Given the description of an element on the screen output the (x, y) to click on. 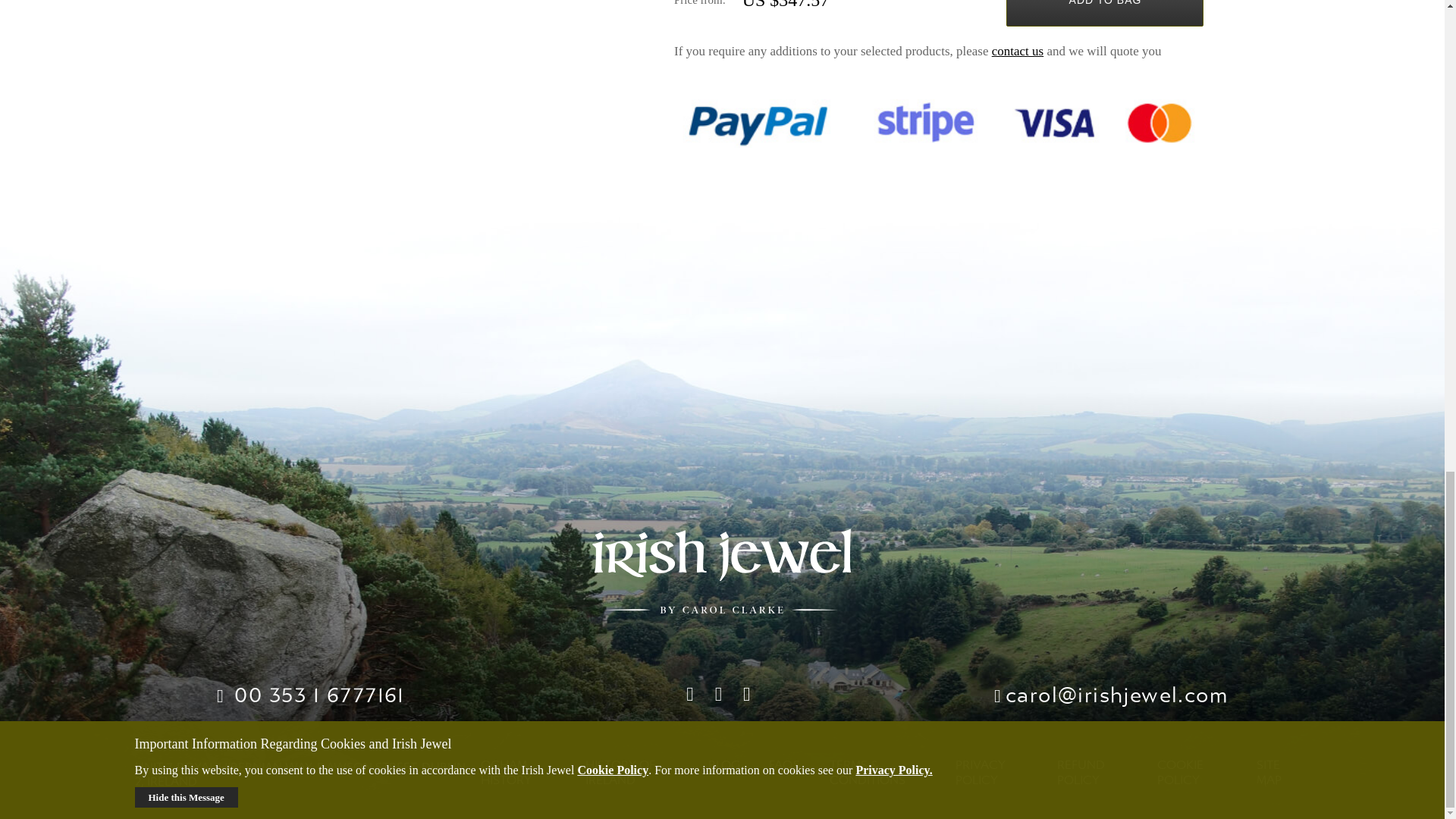
Ogham History (505, 772)
FAQs (783, 765)
History of Ireland (620, 772)
Contact Us (1017, 51)
Blog (723, 765)
